Given the description of an element on the screen output the (x, y) to click on. 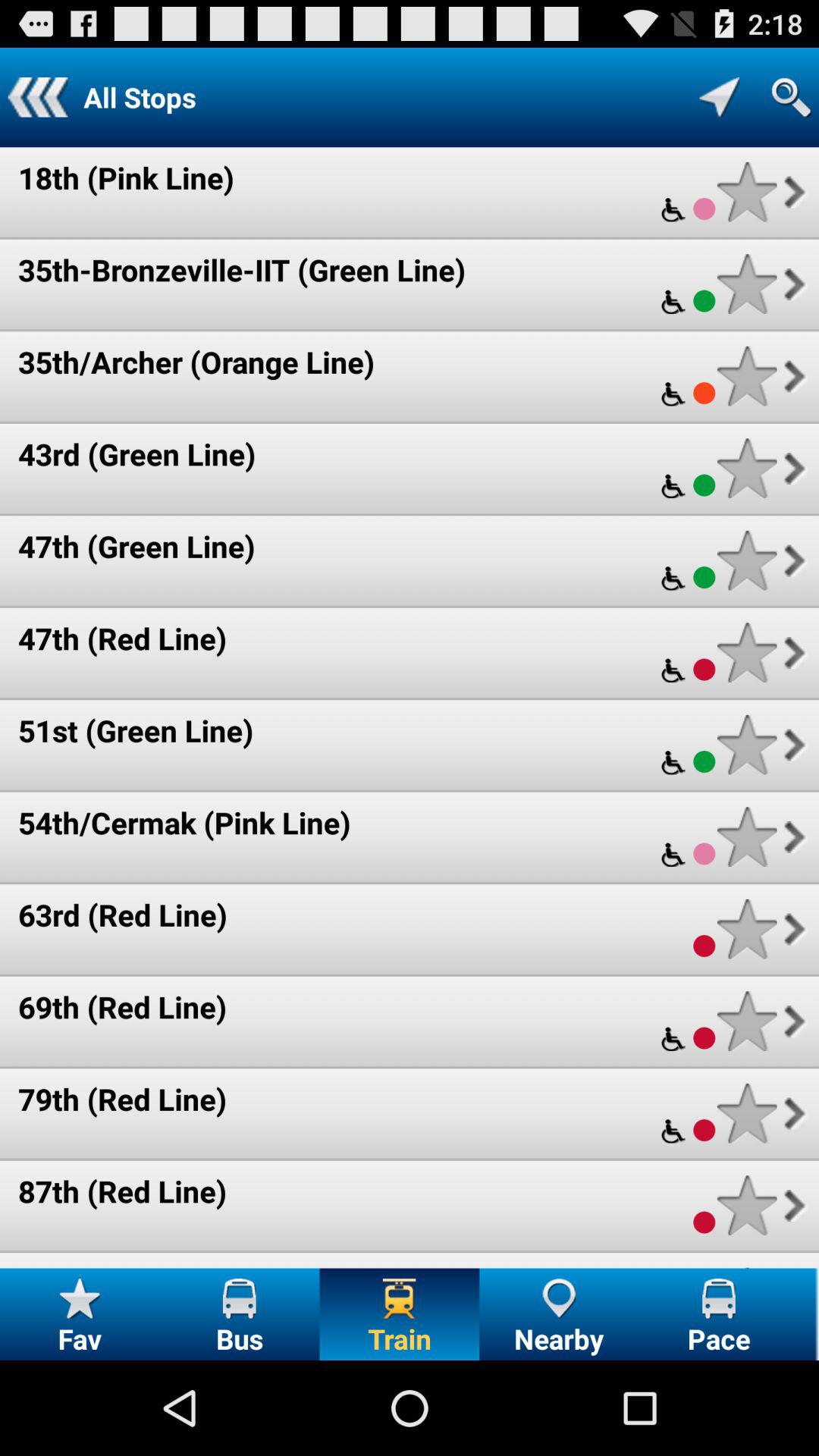
toggle favorite button (746, 928)
